Given the description of an element on the screen output the (x, y) to click on. 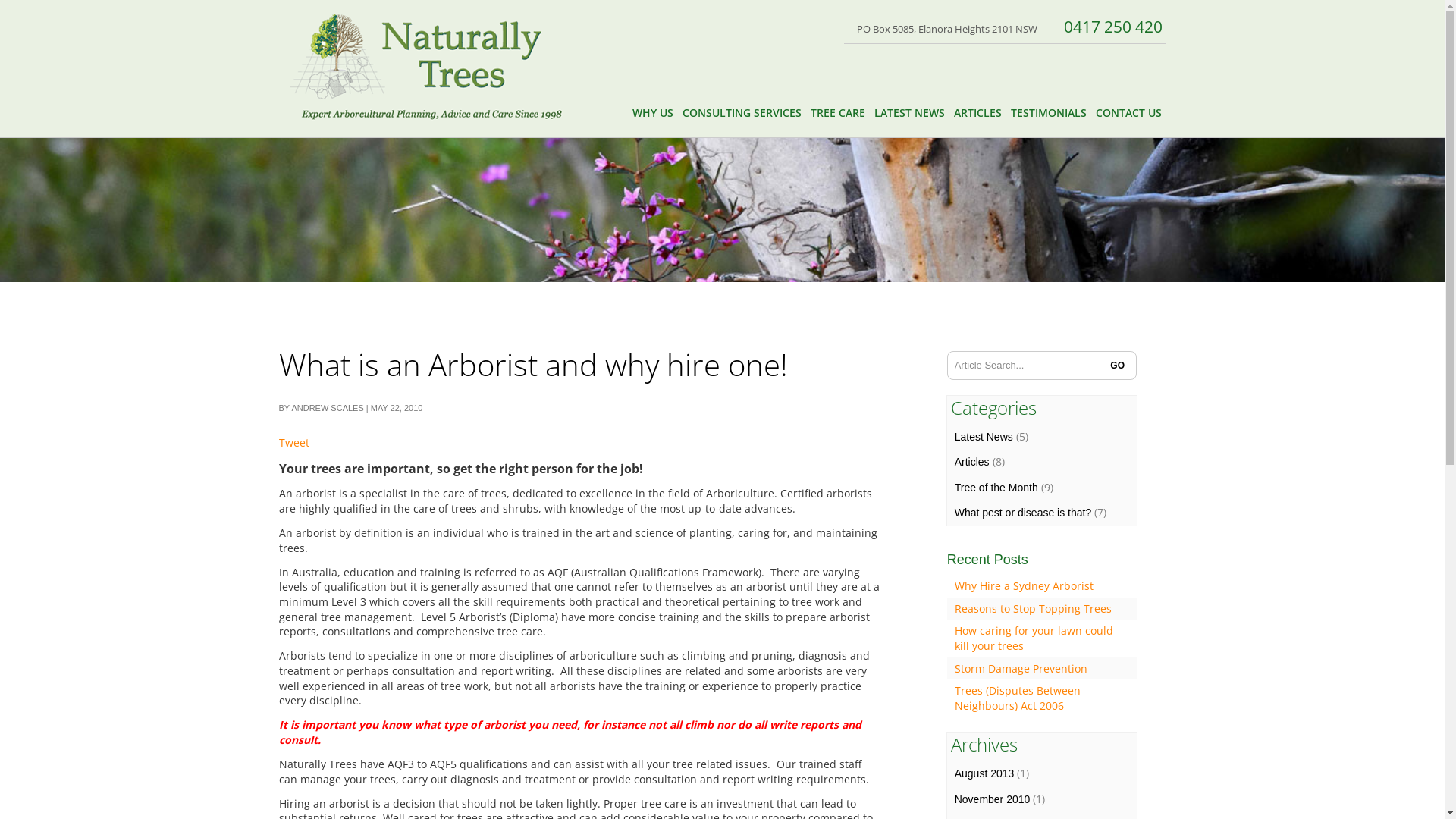
LATEST NEWS Element type: text (908, 112)
Trees (Disputes Between Neighbours) Act 2006 Element type: text (1017, 697)
Articles Element type: text (971, 461)
November 2010 Element type: text (992, 799)
TESTIMONIALS Element type: text (1047, 112)
GO Element type: text (1117, 365)
Reasons to Stop Topping Trees Element type: text (1032, 608)
0417 250 420 Element type: text (1110, 26)
Latest News Element type: text (983, 436)
TREE CARE Element type: text (837, 112)
ARTICLES Element type: text (977, 112)
CONTACT US Element type: text (1127, 112)
Tweet Element type: text (294, 442)
Why Hire a Sydney Arborist Element type: text (1023, 585)
Tree of the Month Element type: text (996, 487)
What pest or disease is that? Element type: text (1023, 512)
WHY US Element type: text (652, 112)
August 2013 Element type: text (984, 773)
How caring for your lawn could kill your trees Element type: text (1033, 637)
 PO Box 5085, Elanora Heights 2101 NSW  Element type: text (944, 28)
Storm Damage Prevention Element type: text (1020, 668)
CONSULTING SERVICES Element type: text (741, 112)
